Given the description of an element on the screen output the (x, y) to click on. 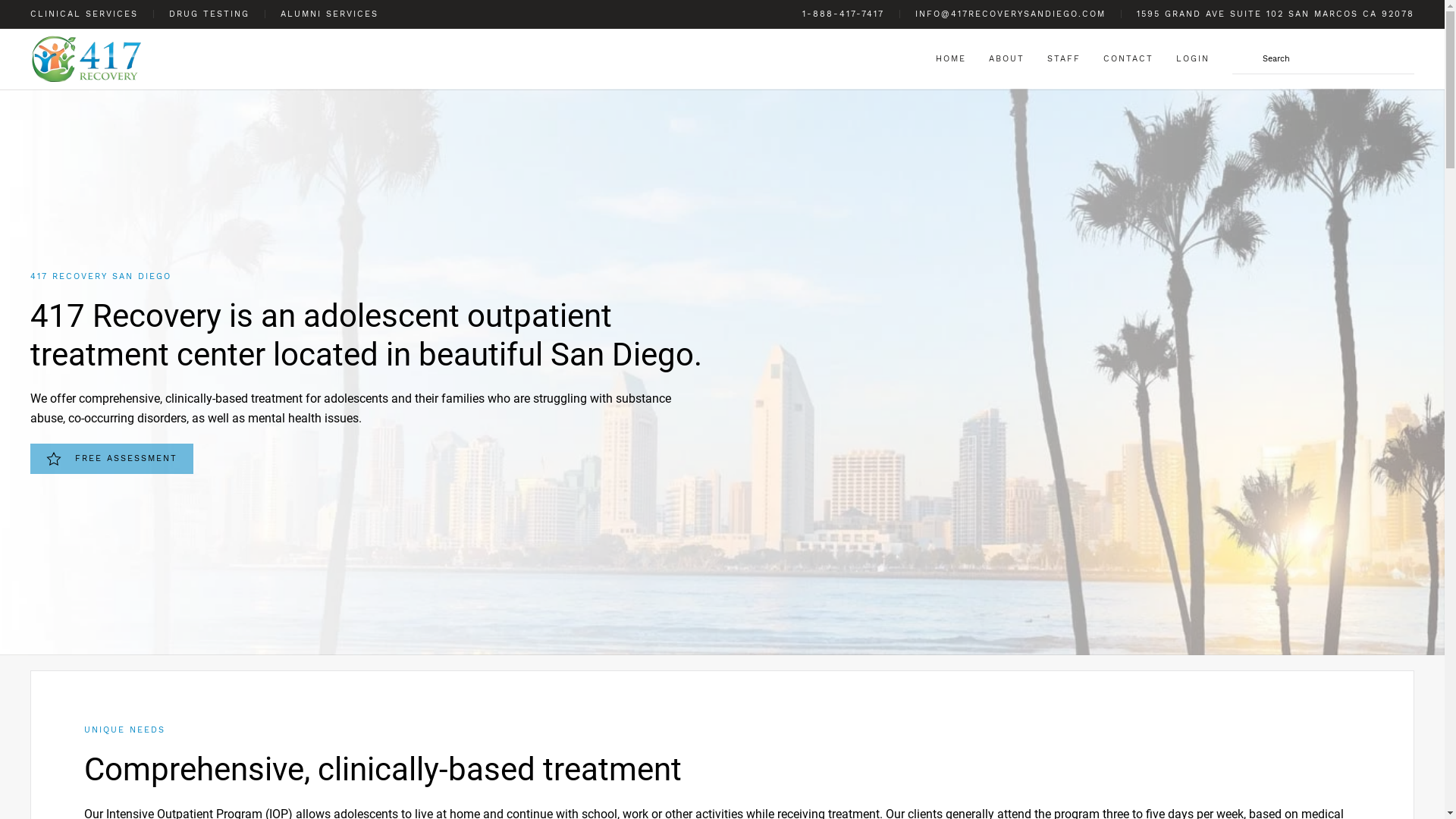
HOME Element type: text (950, 58)
CONTACT Element type: text (1128, 58)
ALUMNI SERVICES Element type: text (329, 14)
STAFF Element type: text (1063, 58)
DRUG TESTING Element type: text (209, 14)
1-888-417-7417 Element type: text (843, 14)
LOGIN Element type: text (1192, 58)
  FREE ASSESSMENT Element type: text (111, 458)
ABOUT Element type: text (1006, 58)
CLINICAL SERVICES Element type: text (84, 14)
1595 GRAND AVE SUITE 102 SAN MARCOS CA 92078 Element type: text (1275, 14)
INFO@417RECOVERYSANDIEGO.COM Element type: text (1010, 14)
